Given the description of an element on the screen output the (x, y) to click on. 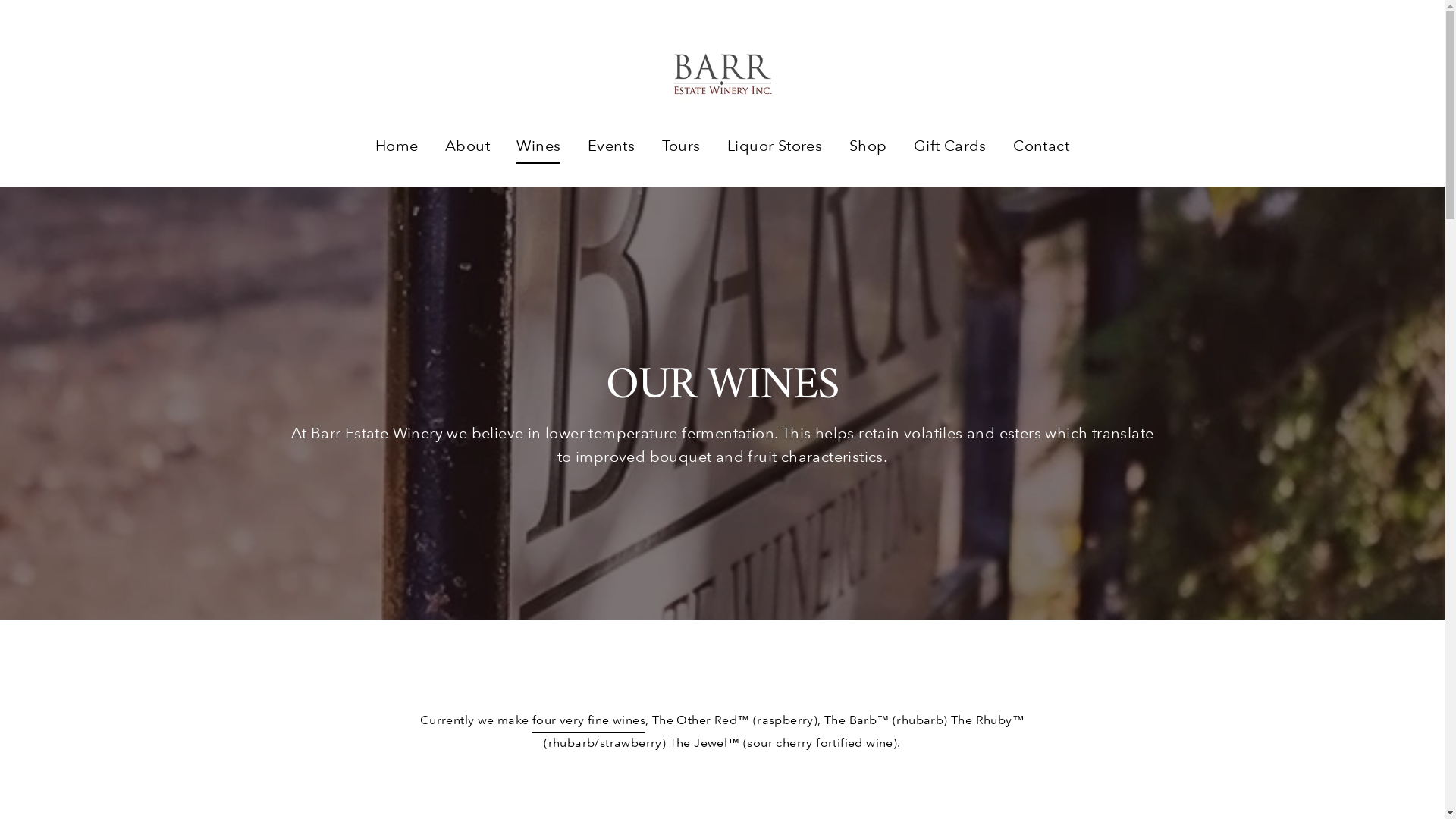
Wines Element type: text (538, 145)
Liquor Stores Element type: text (774, 145)
Shop Element type: text (867, 145)
Gift Cards Element type: text (949, 145)
Skip to content Element type: text (0, 0)
Tours Element type: text (681, 145)
Events Element type: text (611, 145)
Contact Element type: text (1040, 145)
four very fine wines Element type: text (588, 721)
About Element type: text (467, 145)
Home Element type: text (396, 145)
